Given the description of an element on the screen output the (x, y) to click on. 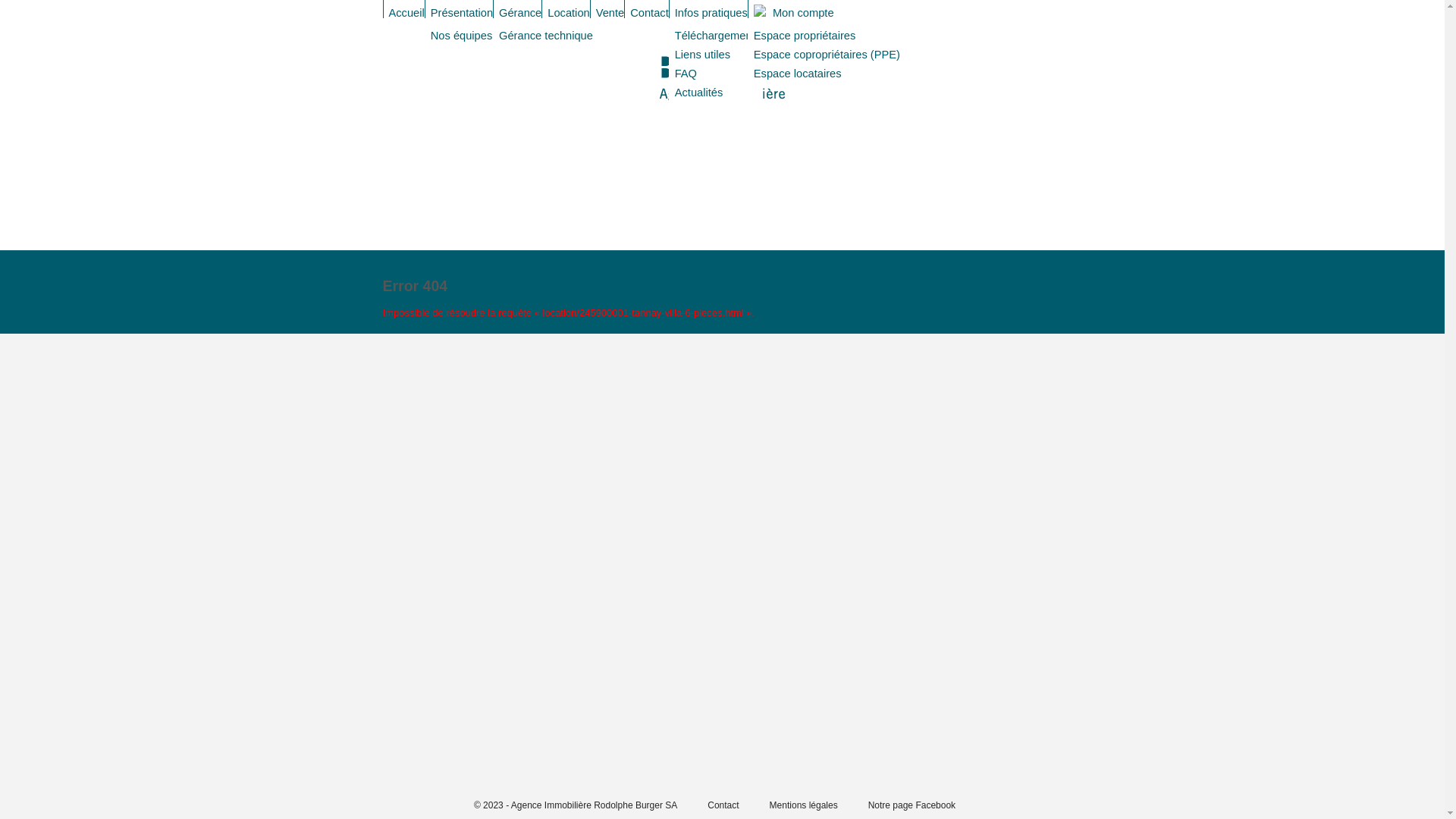
Infos pratiques Element type: text (710, 13)
Liens utiles Element type: text (702, 54)
Espace locataires Element type: text (797, 73)
Contact Element type: text (722, 805)
Location Element type: text (568, 13)
Contact Element type: text (649, 13)
Mon compte Element type: text (793, 13)
Accueil Element type: text (405, 13)
Notre page Facebook Element type: text (911, 805)
Vente Element type: text (610, 13)
FAQ Element type: text (685, 73)
